Given the description of an element on the screen output the (x, y) to click on. 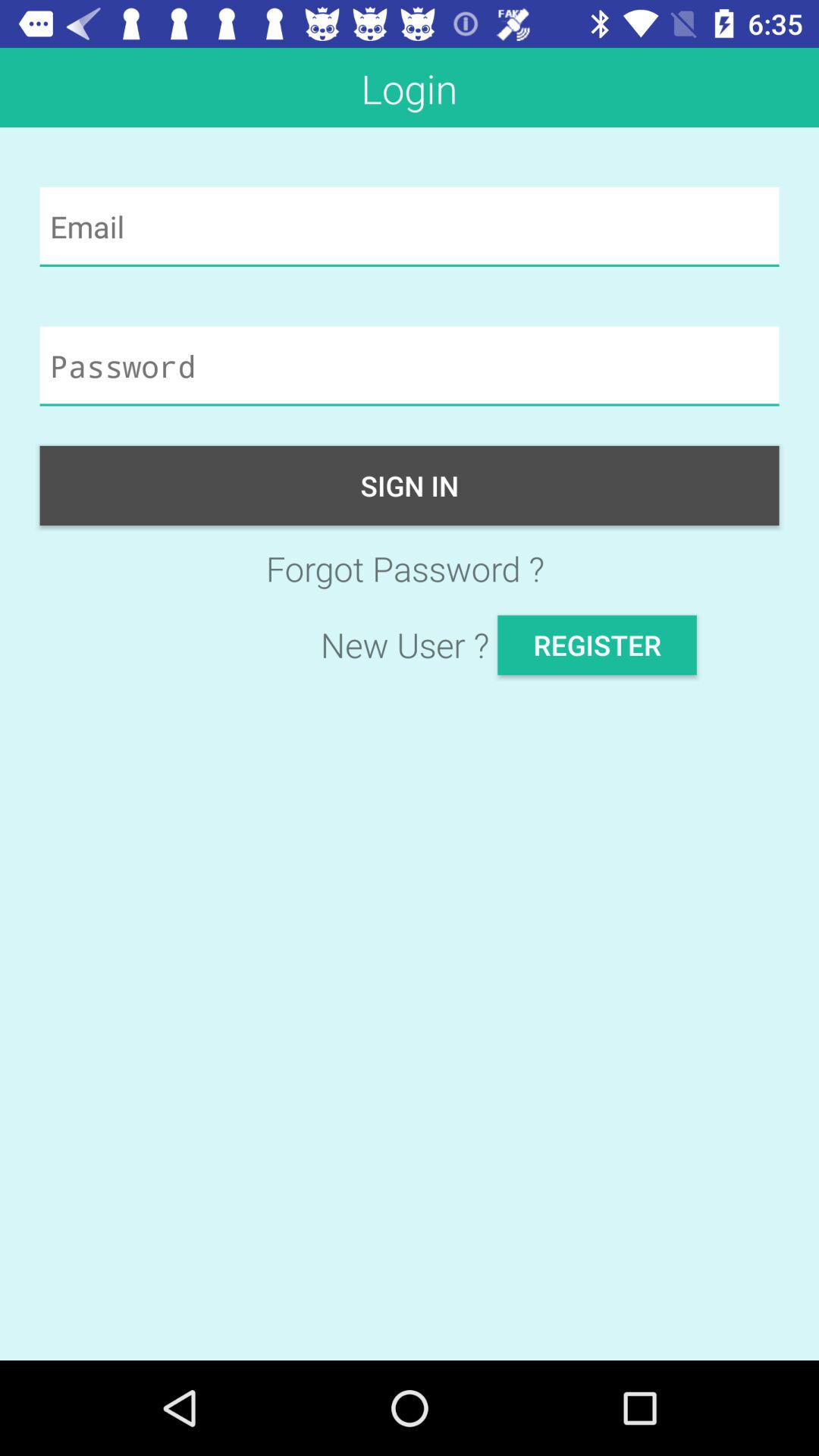
open app to the right of the new user ?  icon (596, 645)
